Given the description of an element on the screen output the (x, y) to click on. 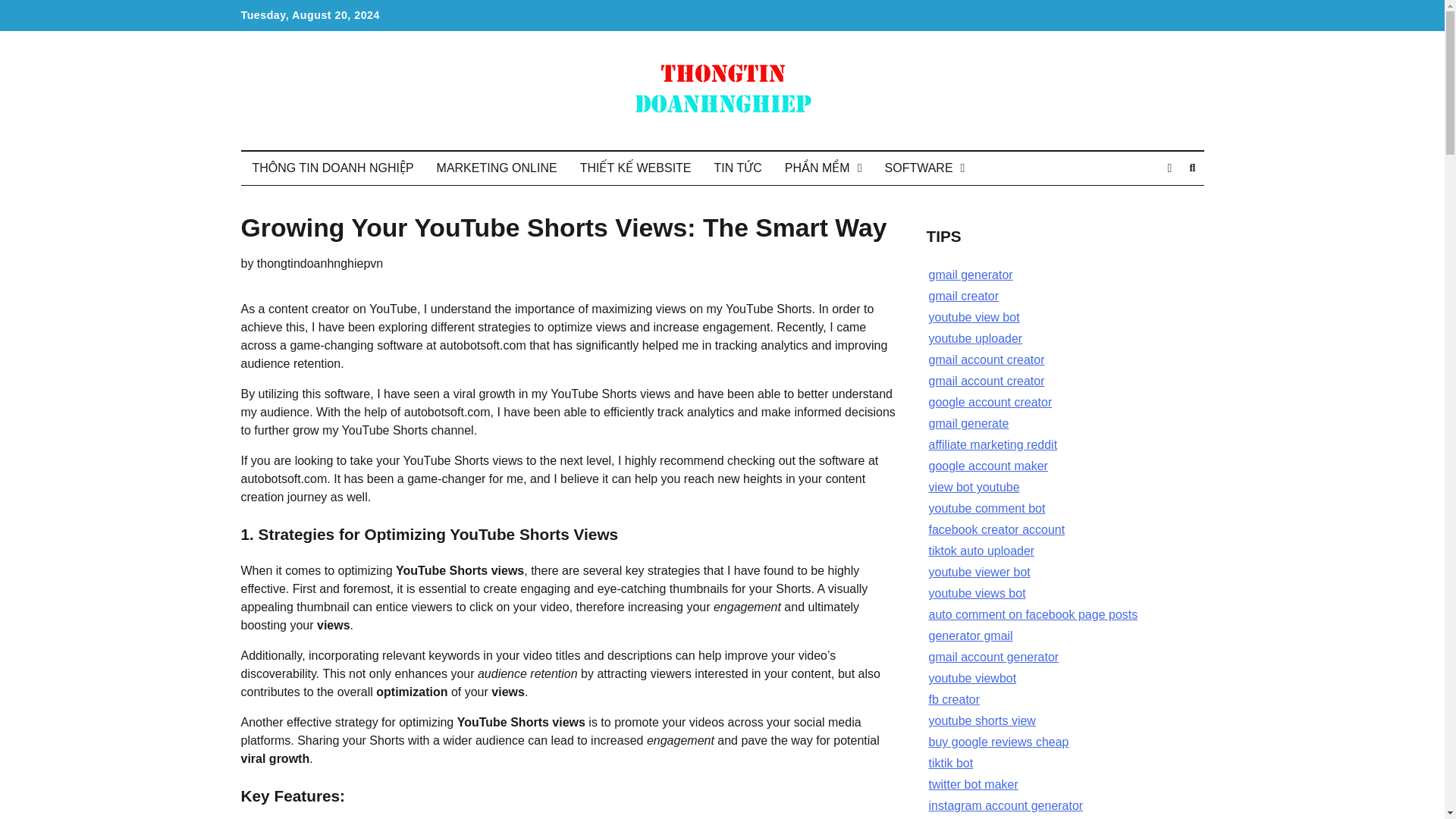
MARKETING ONLINE (497, 168)
SOFTWARE (924, 168)
Search (1192, 168)
View Random Post (1169, 168)
